Given the description of an element on the screen output the (x, y) to click on. 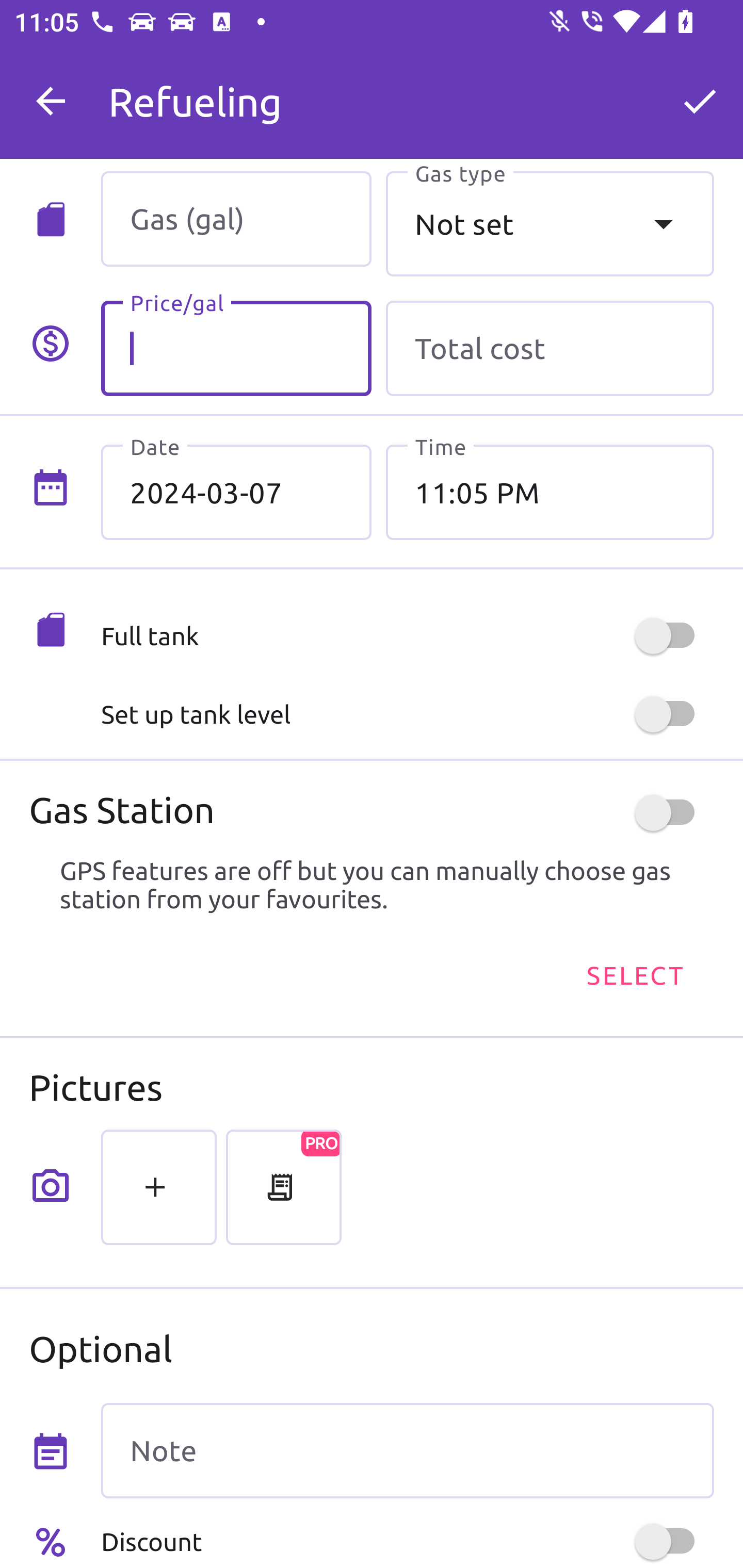
M My Car 0 km (407, 92)
Navigate up (50, 101)
OK (699, 101)
Gas (gal) (236, 218)
Not set (549, 222)
Price/gal (236, 348)
Total cost  (549, 348)
2024-03-07 (236, 492)
11:05 PM (549, 492)
Full tank (407, 635)
Set up tank level (407, 713)
SELECT (634, 974)
Note (407, 1451)
Discount (407, 1541)
